Given the description of an element on the screen output the (x, y) to click on. 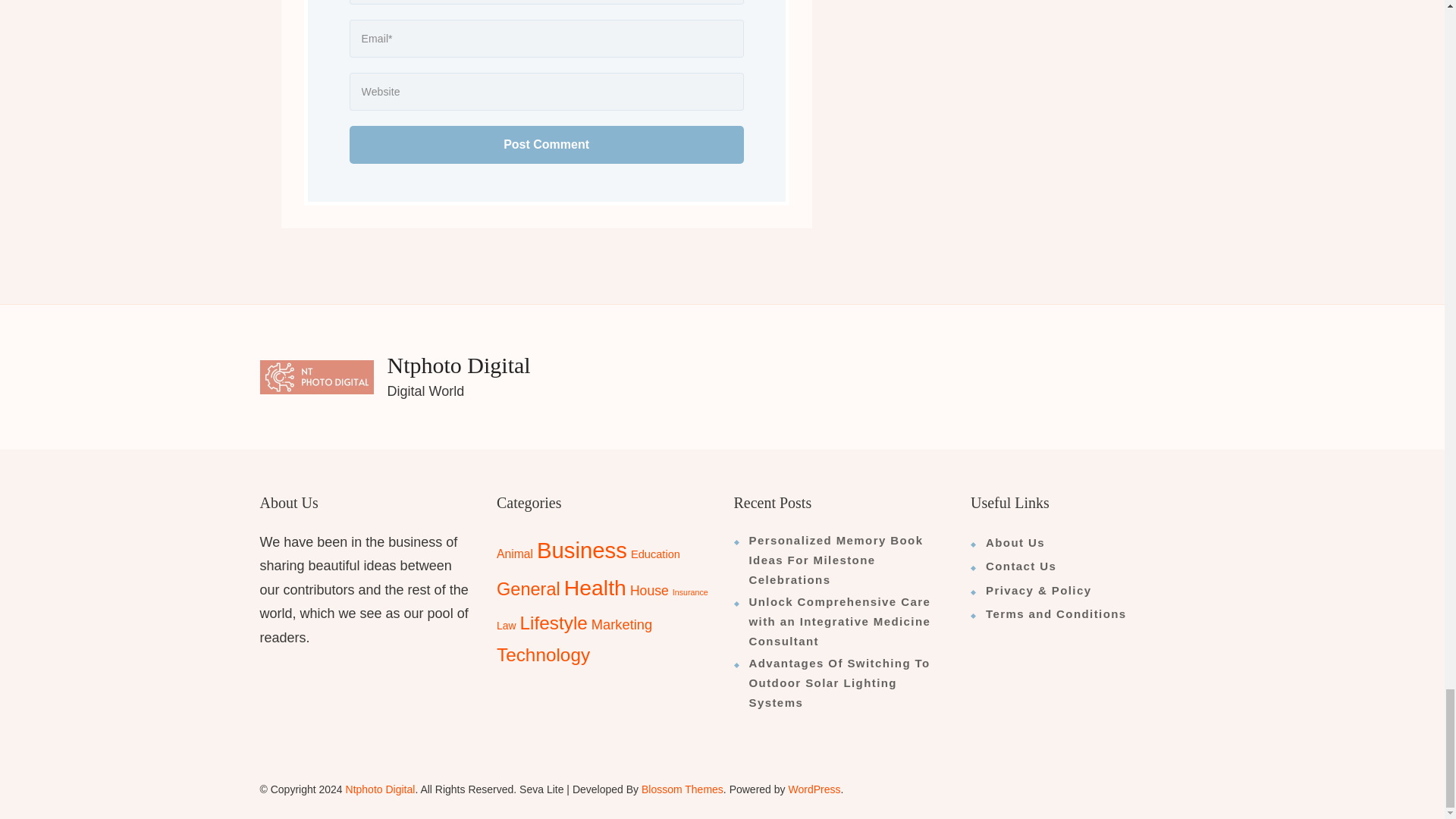
Post Comment (546, 144)
